Given the description of an element on the screen output the (x, y) to click on. 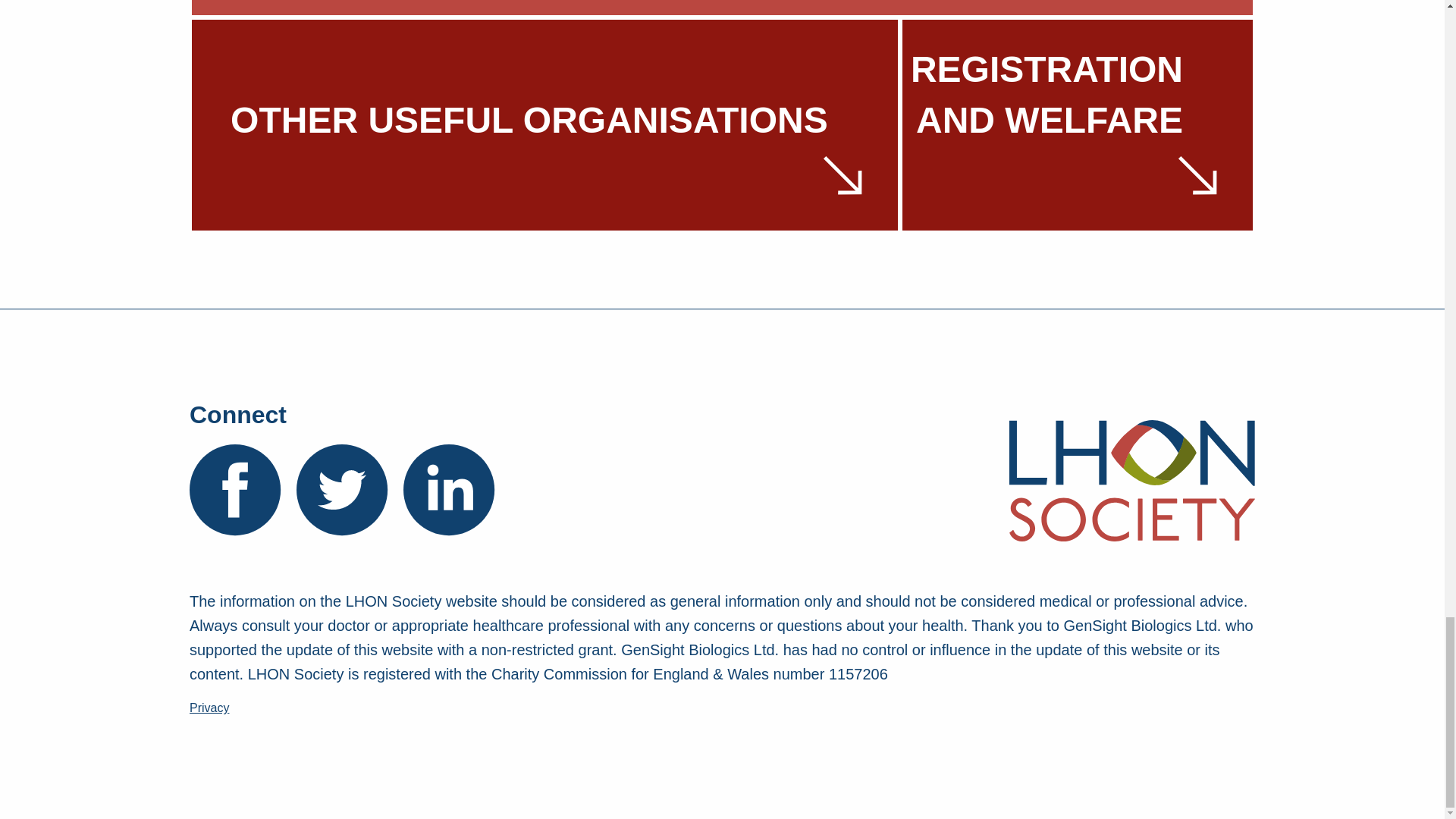
LinkedIn (449, 489)
Twitter (342, 489)
Facebook (235, 489)
